Given the description of an element on the screen output the (x, y) to click on. 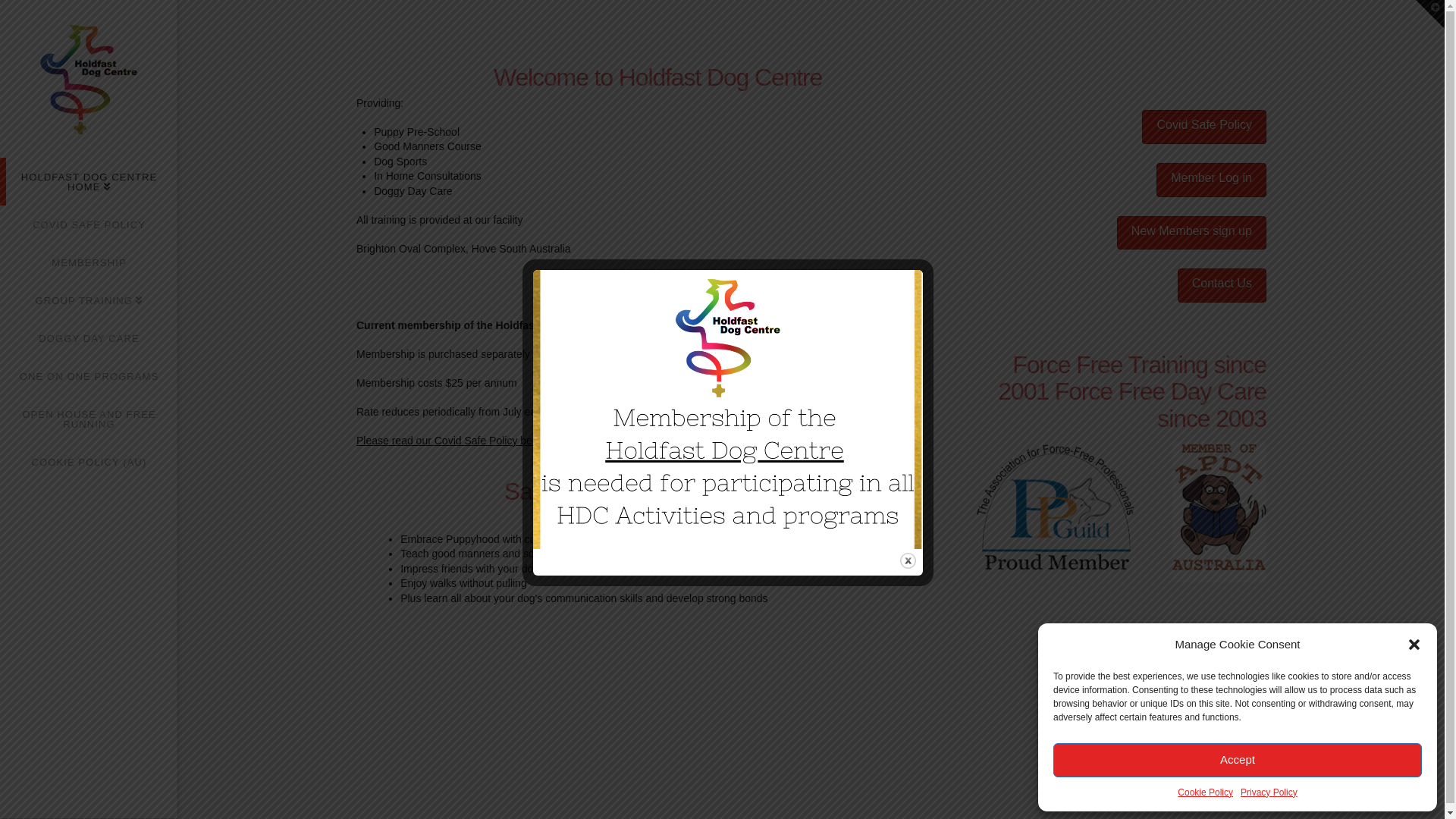
ONE ON ONE PROGRAMS Element type: text (88, 376)
Accept Element type: text (1237, 760)
HOLDFAST DOG CENTRE HOME Element type: text (88, 181)
Cookie Policy Element type: text (1205, 792)
New Members sign up Element type: text (1191, 233)
DOGGY DAY CARE Element type: text (88, 338)
COVID SAFE POLICY Element type: text (88, 224)
COOKIE POLICY (AU) Element type: text (88, 461)
Contact Us Element type: text (1221, 285)
MEMBERSHIP Element type: text (88, 262)
GROUP TRAINING Element type: text (88, 300)
Toggle the Widgetbar Element type: text (1429, 14)
Covid Safe Policy Element type: text (1203, 126)
Member Log in Element type: text (1211, 180)
Privacy Policy Element type: text (1268, 792)
Close Element type: hover (908, 560)
OPEN HOUSE AND FREE RUNNING Element type: text (88, 418)
